Given the description of an element on the screen output the (x, y) to click on. 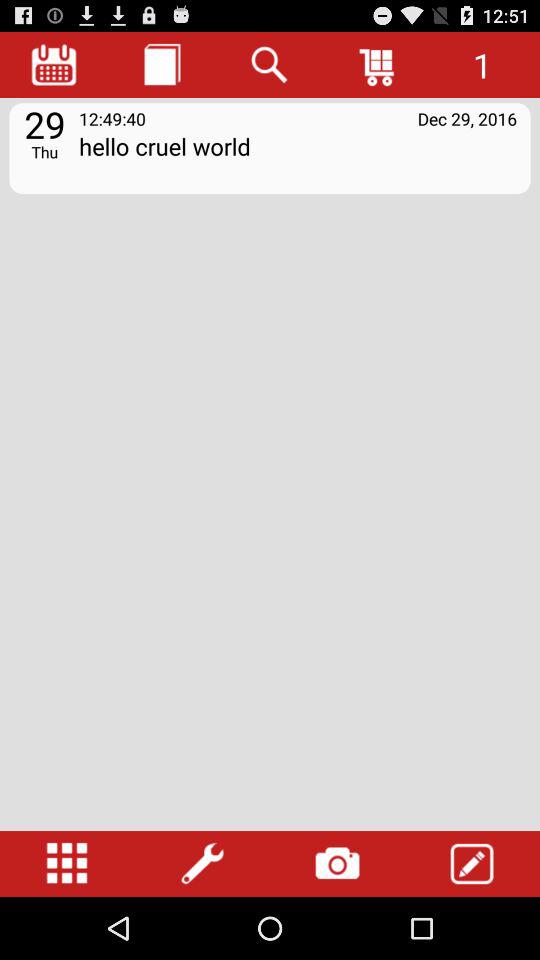
click the icon next to the hello cruel world icon (44, 151)
